Given the description of an element on the screen output the (x, y) to click on. 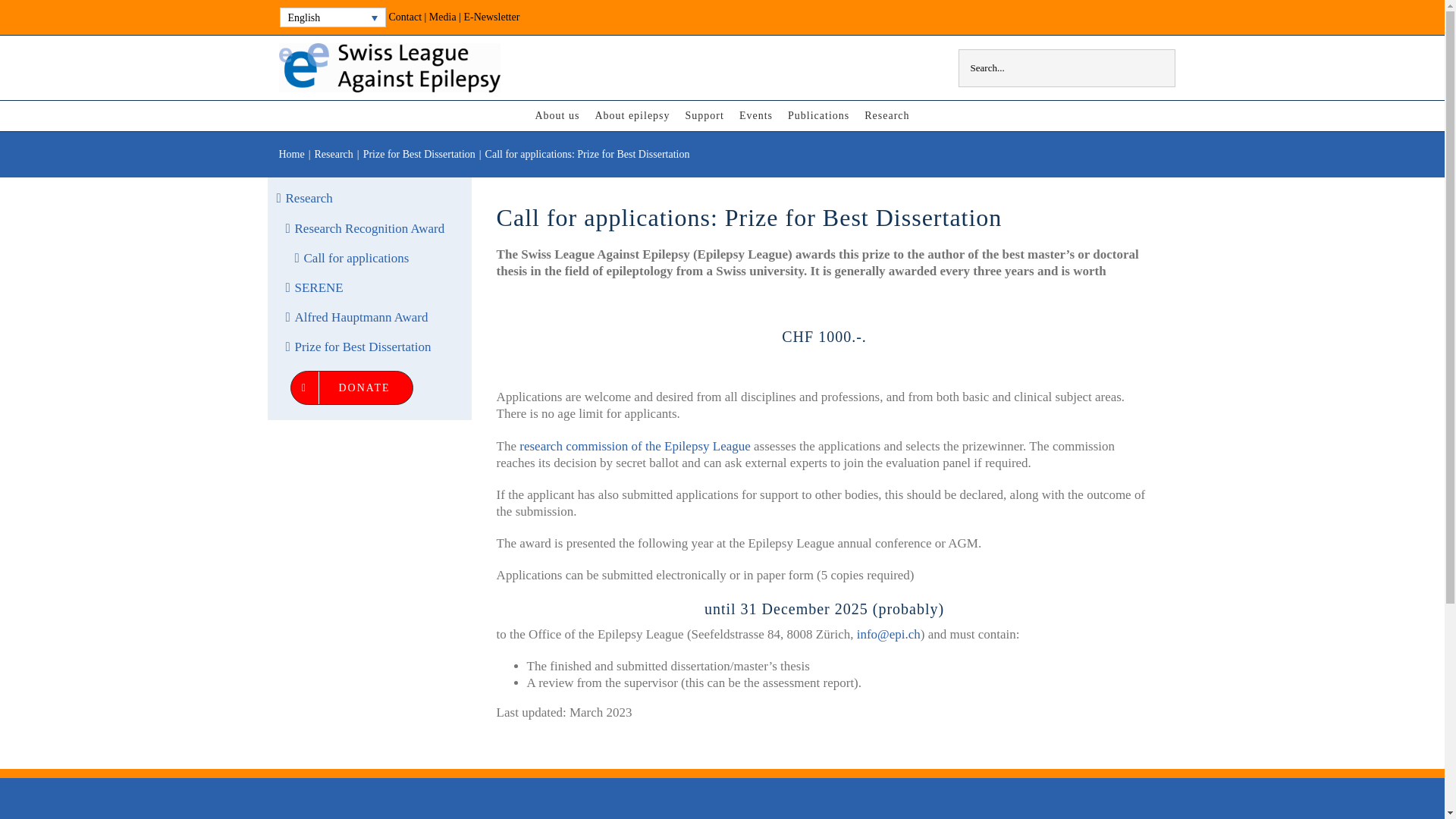
Contact (405, 16)
Support (704, 115)
Media (443, 16)
Media (443, 16)
Contact (405, 16)
English (332, 17)
About us (556, 115)
Events (756, 115)
About epilepsy (631, 115)
E-Newsletter (491, 16)
